Given the description of an element on the screen output the (x, y) to click on. 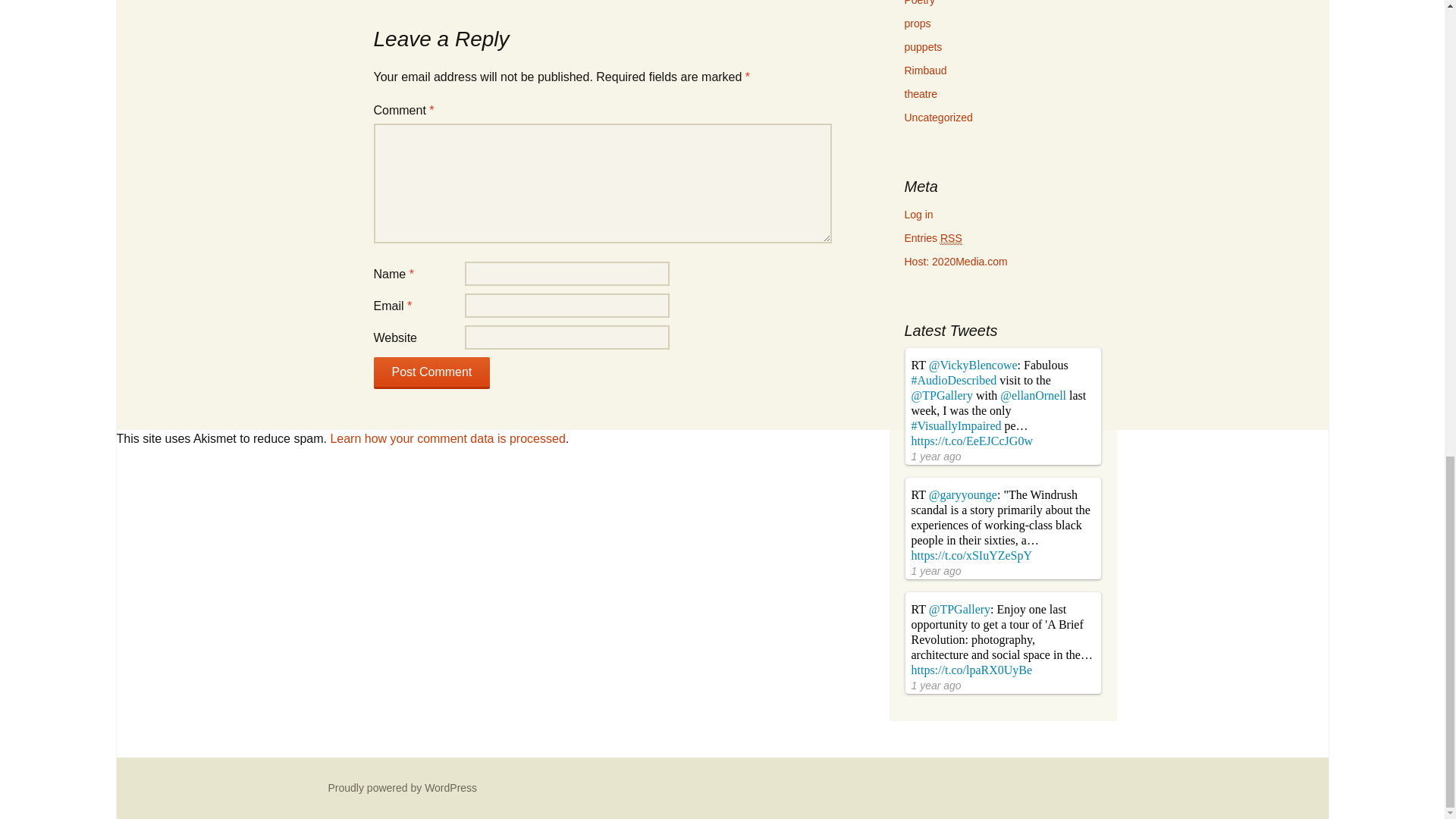
Post Comment (430, 373)
Learn how your comment data is processed (447, 438)
Really Simple Syndication (951, 237)
Post Comment (430, 373)
